Given the description of an element on the screen output the (x, y) to click on. 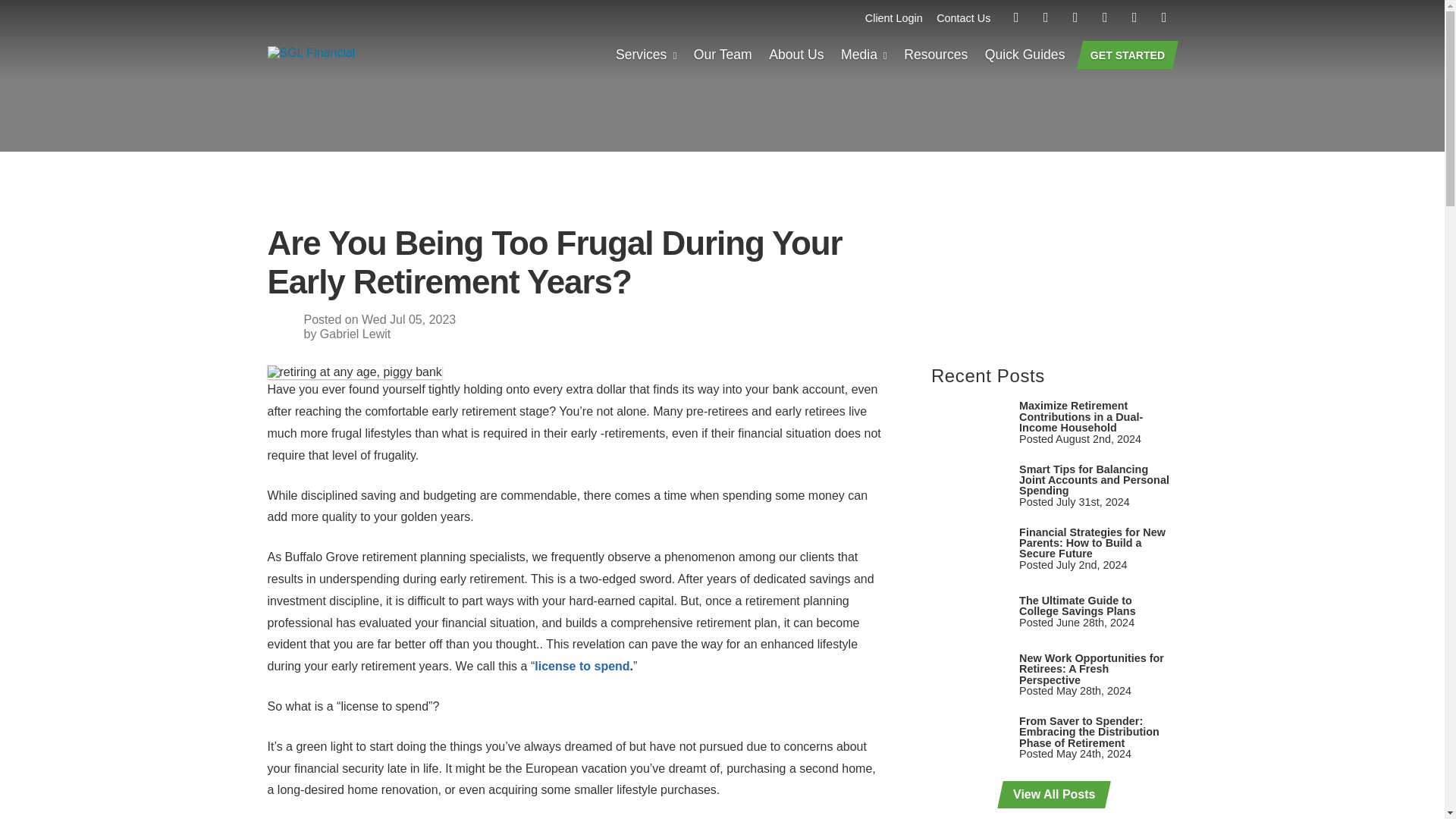
About Us (796, 55)
Services (646, 56)
Contact Us (963, 18)
View All Posts (1051, 794)
Media (863, 56)
license to spend (581, 666)
